Given the description of an element on the screen output the (x, y) to click on. 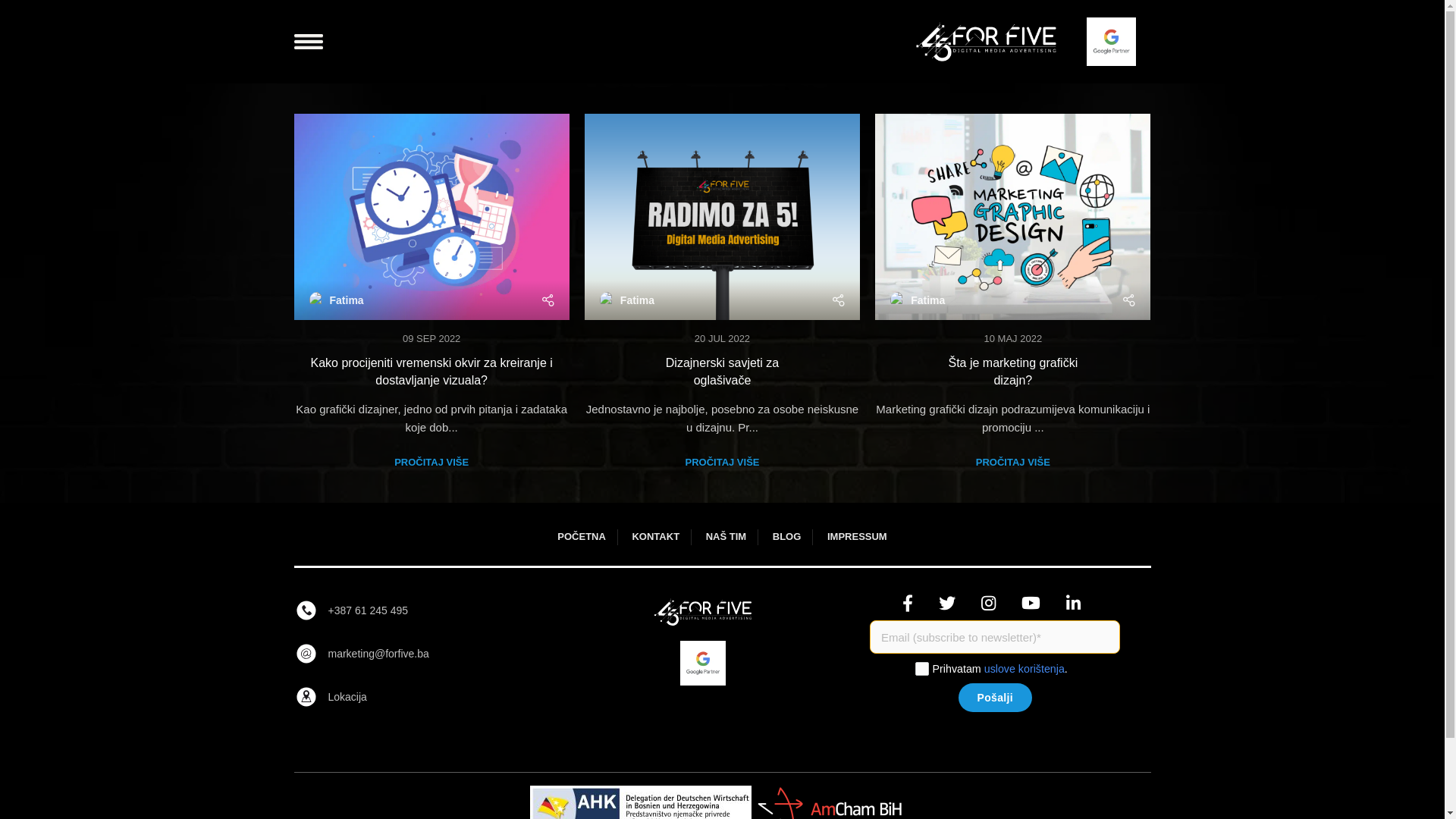
Fatima Element type: text (346, 299)
+387 61 245 495 Element type: text (415, 610)
IMPRESSUM Element type: text (857, 536)
Fatima Element type: text (637, 299)
Lokacija Element type: text (415, 696)
BLOG Element type: text (786, 536)
KONTAKT Element type: text (655, 536)
marketing@forfive.ba Element type: text (415, 653)
Digital marketing agency | Google partner | FOR FIVE dma Element type: hover (702, 611)
Fatima Element type: text (927, 299)
